Given the description of an element on the screen output the (x, y) to click on. 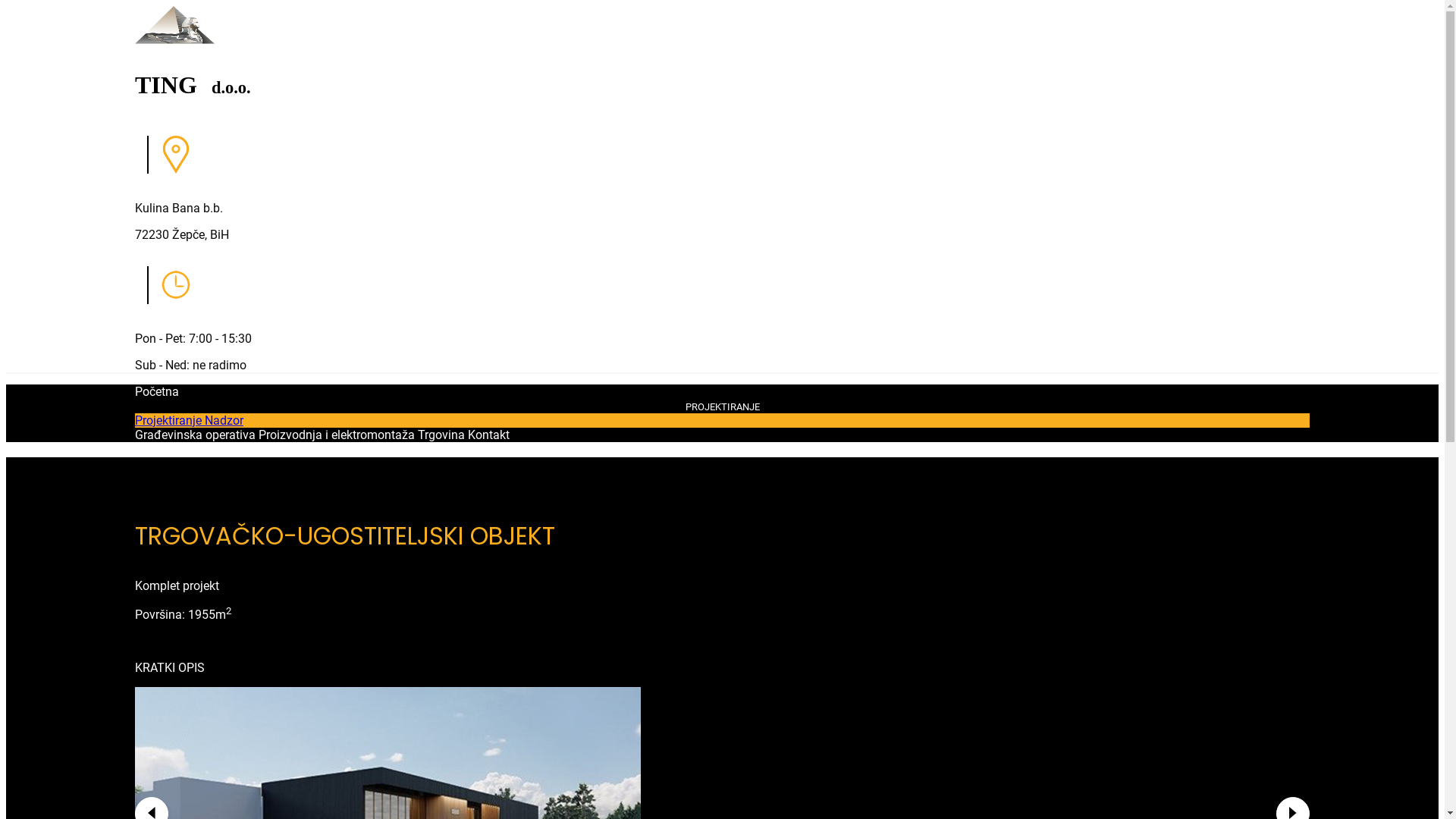
PROJEKTIRANJE Element type: text (721, 406)
Trgovina Element type: text (440, 434)
PROJEKTIRANJE Element type: text (722, 406)
Kontakt Element type: text (488, 434)
Nadzor Element type: text (223, 420)
Projektiranje Element type: text (169, 420)
TING d.o.o. Element type: text (721, 65)
